Given the description of an element on the screen output the (x, y) to click on. 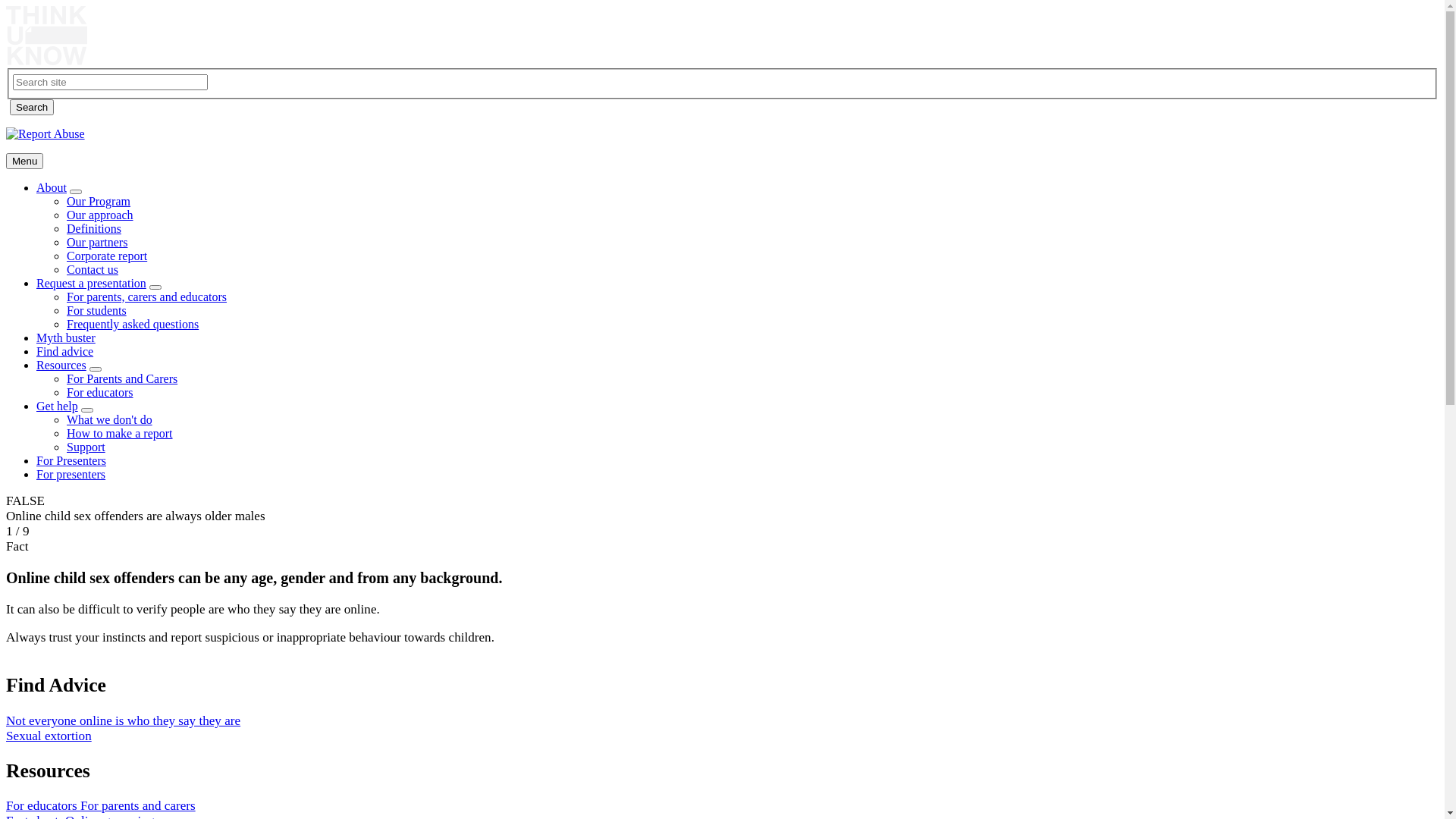
For presenters Element type: text (70, 473)
Home Element type: hover (46, 60)
Toggle Dropdown Element type: text (155, 287)
Myth buster Element type: text (65, 337)
Our Program Element type: text (98, 200)
Skip to main content Element type: text (6, 6)
Contact us Element type: text (92, 269)
Find advice Element type: text (64, 351)
For Parents and Carers Element type: text (121, 378)
For educators Element type: text (43, 805)
Toggle Dropdown Element type: text (95, 369)
For Presenters Element type: text (71, 460)
Sexual extortion Element type: text (48, 735)
Our partners Element type: text (96, 241)
Toggle Dropdown Element type: text (75, 191)
Definitions Element type: text (93, 228)
Frequently asked questions Element type: text (132, 323)
What we don't do Element type: text (109, 419)
Menu Element type: text (24, 161)
For parents, carers and educators Element type: text (146, 296)
Not everyone online is who they say they are Element type: text (123, 720)
For students Element type: text (96, 310)
How to make a report Element type: text (119, 432)
Toggle Dropdown Element type: text (87, 409)
Support Element type: text (85, 446)
For educators Element type: text (99, 391)
Search Element type: text (31, 107)
About Element type: text (51, 187)
Request a presentation Element type: text (91, 282)
Resources Element type: text (61, 364)
Get help Element type: text (57, 405)
Our approach Element type: text (99, 214)
For parents and carers Element type: text (137, 805)
Corporate report Element type: text (106, 255)
